Given the description of an element on the screen output the (x, y) to click on. 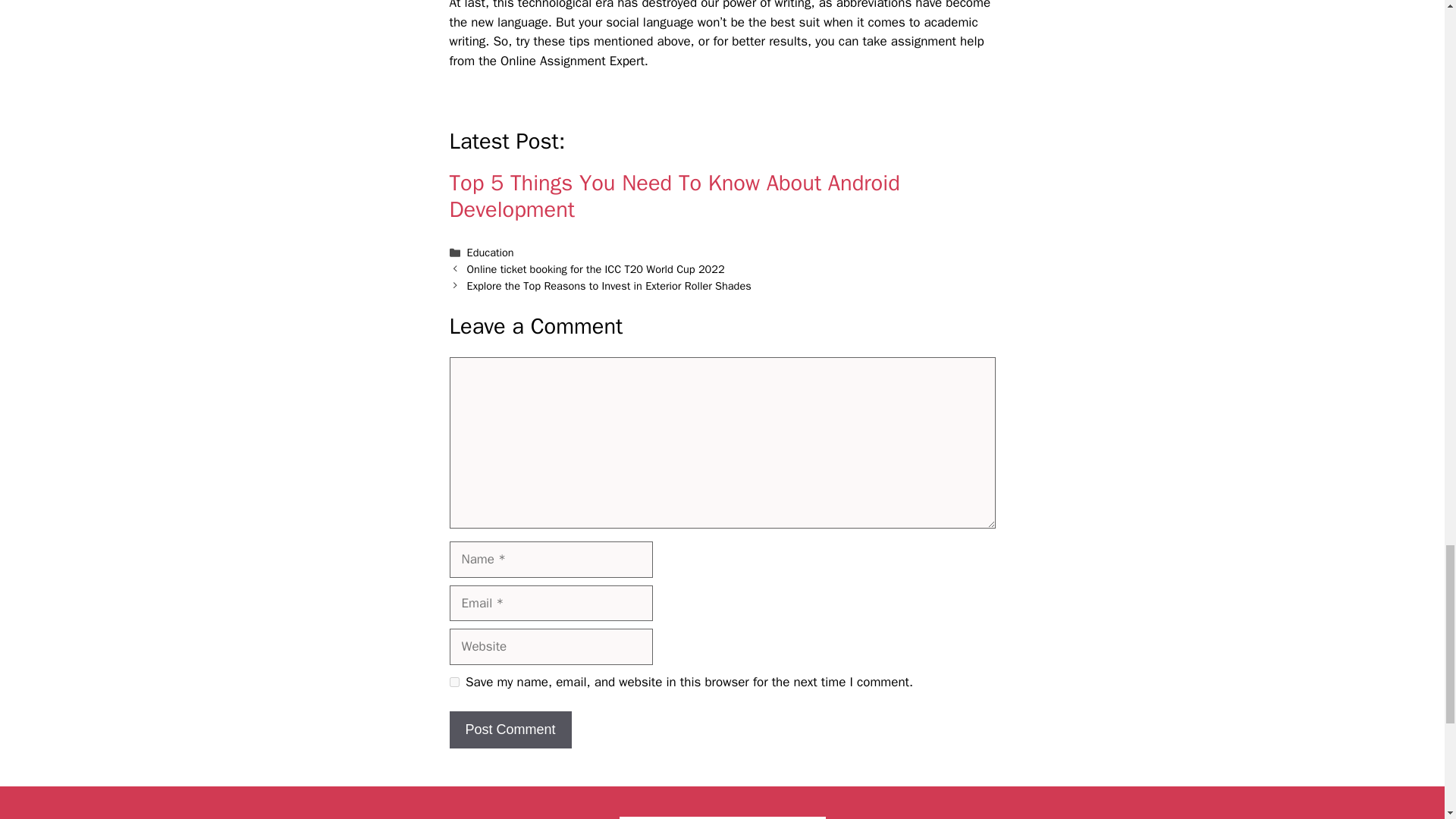
yes (453, 682)
Post Comment (509, 729)
